Given the description of an element on the screen output the (x, y) to click on. 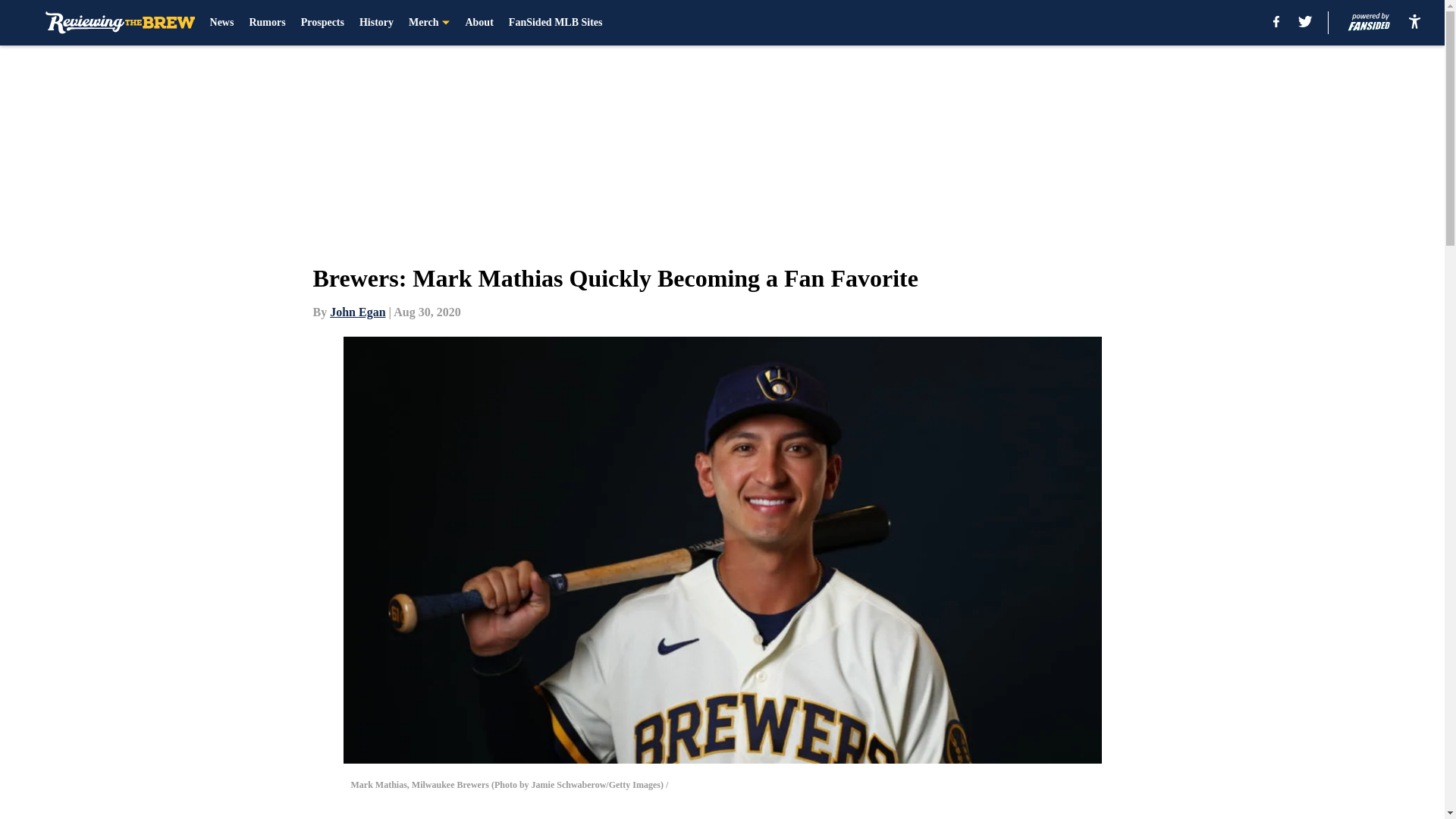
FanSided MLB Sites (555, 22)
John Egan (357, 311)
Rumors (266, 22)
History (376, 22)
About (478, 22)
Prospects (322, 22)
News (221, 22)
